Given the description of an element on the screen output the (x, y) to click on. 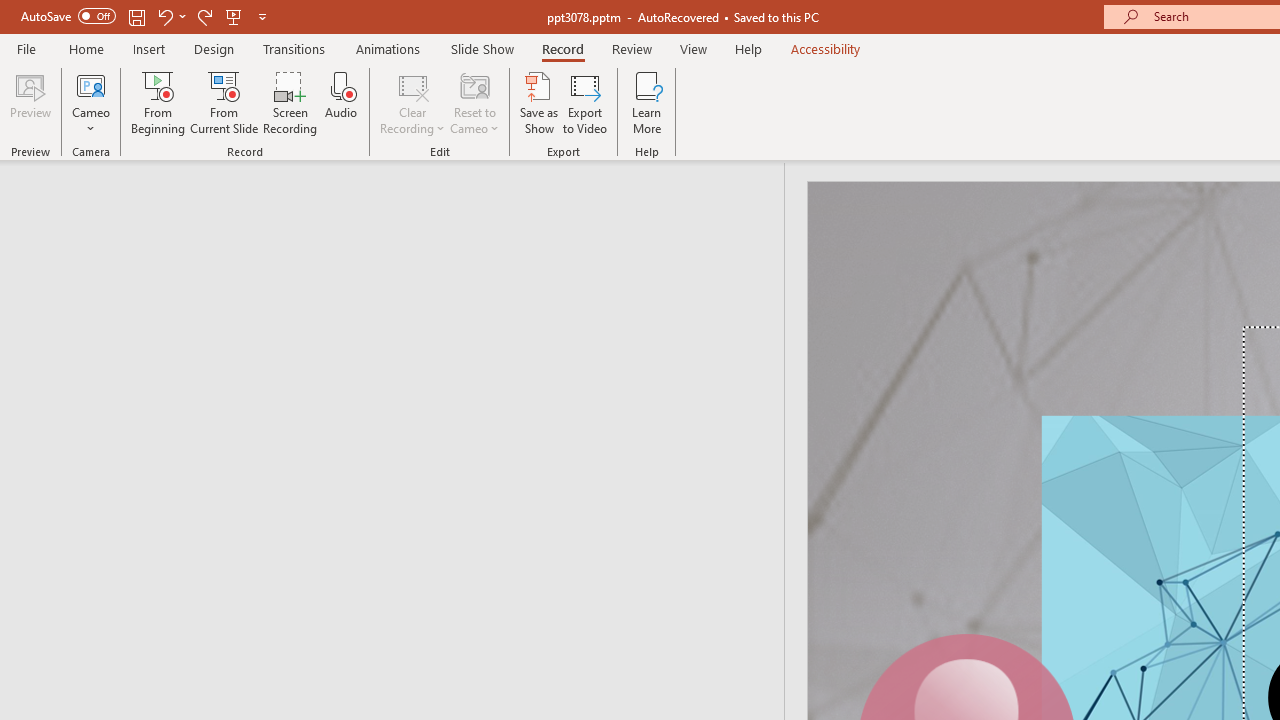
From Beginning... (158, 102)
Save as Show (539, 102)
Outline (401, 202)
Reset to Cameo (474, 102)
From Current Slide... (224, 102)
